Given the description of an element on the screen output the (x, y) to click on. 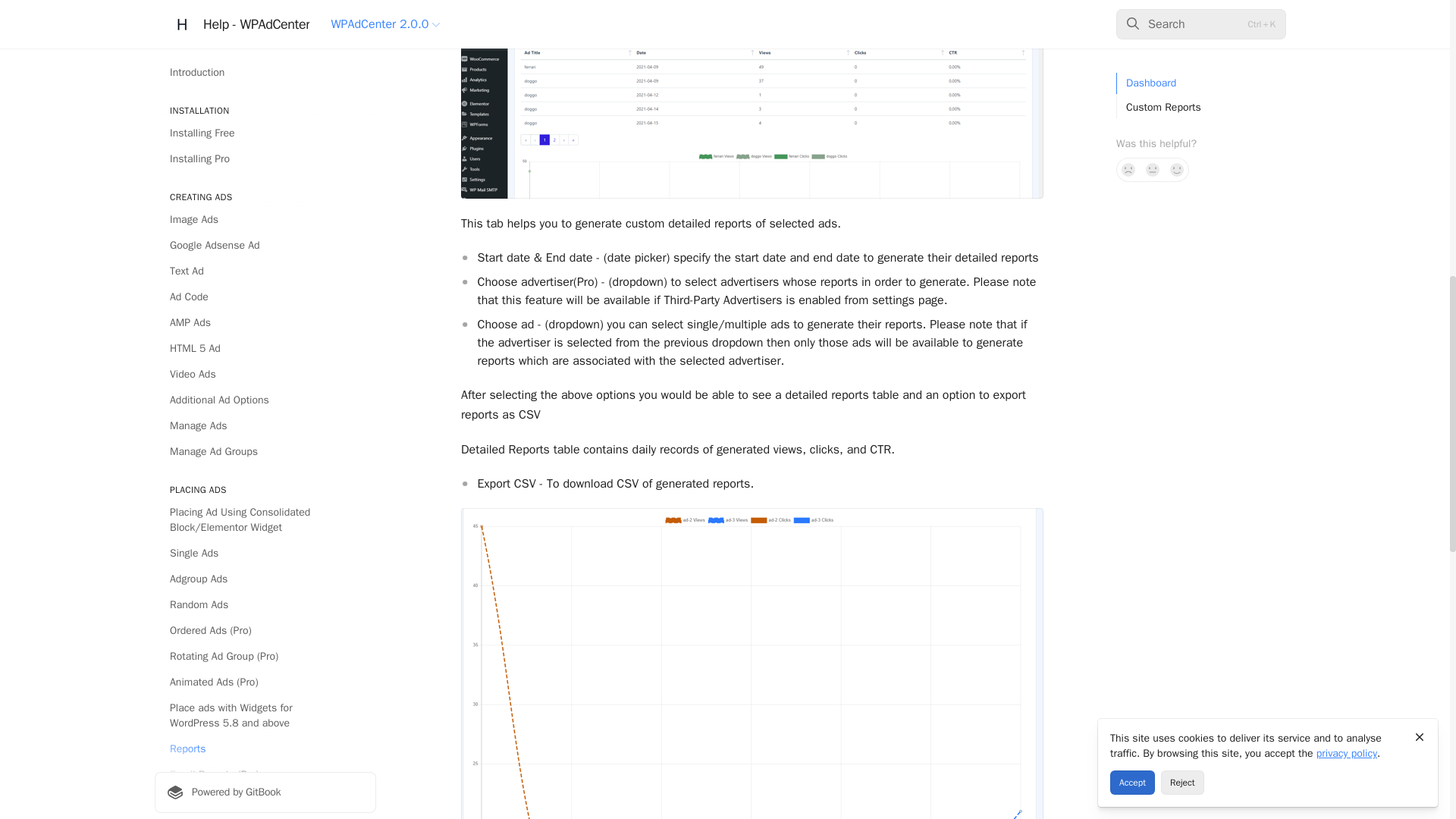
Integrations (264, 68)
Scripts (264, 42)
General (264, 16)
Privacy Options (264, 93)
